Given the description of an element on the screen output the (x, y) to click on. 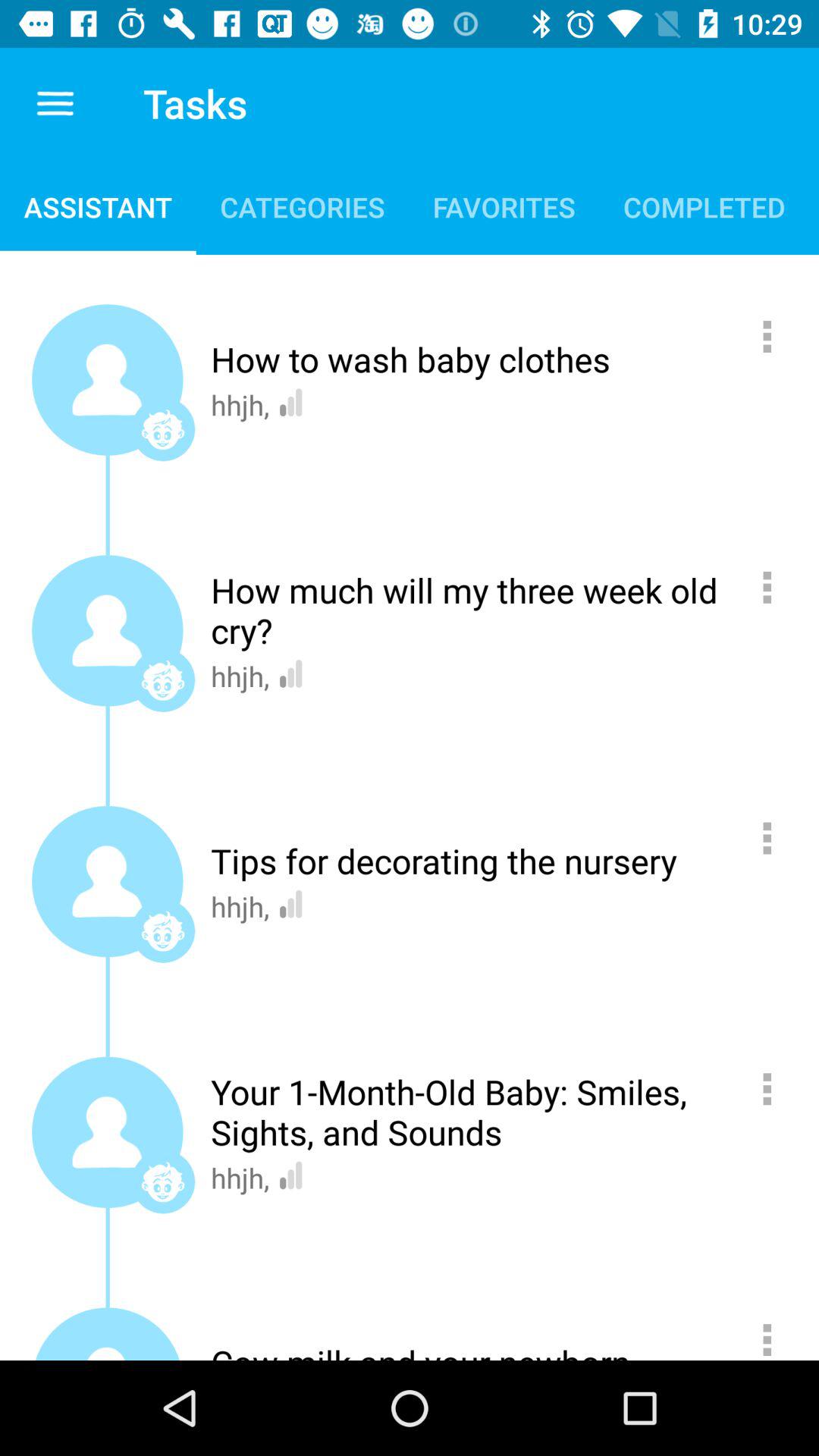
open more options (775, 587)
